Given the description of an element on the screen output the (x, y) to click on. 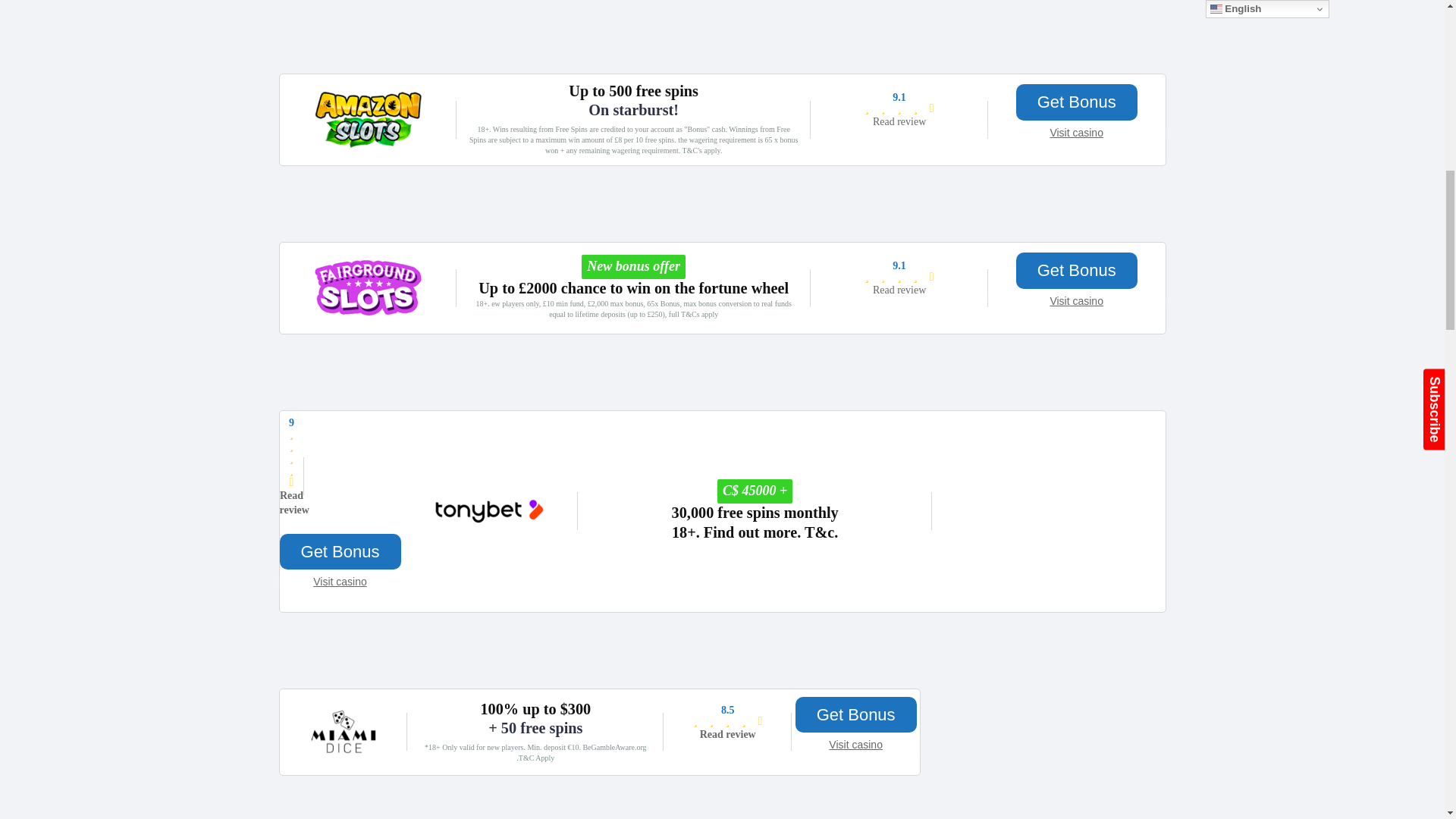
Read More (899, 289)
Get Bonus (1076, 102)
Fairground Slots (368, 314)
Read More (899, 121)
Get Bonus (1076, 270)
Amazon Slots (368, 145)
